Given the description of an element on the screen output the (x, y) to click on. 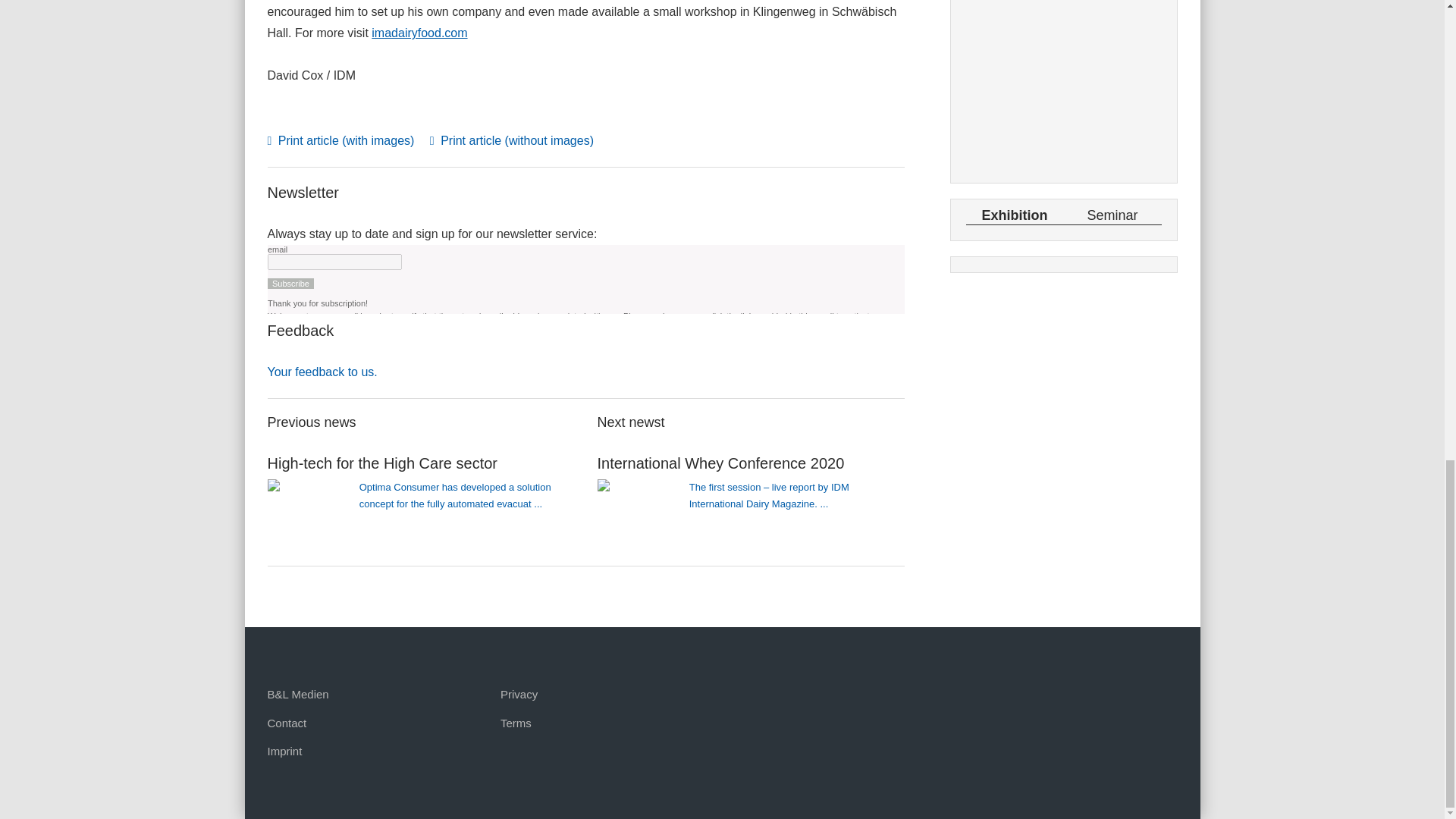
Events and Exhibitons (1063, 87)
Imprint (283, 750)
Your feedback to us. (321, 371)
Terms (515, 722)
Privacy (518, 694)
imadairyfood.com (419, 32)
Contact (285, 722)
